Given the description of an element on the screen output the (x, y) to click on. 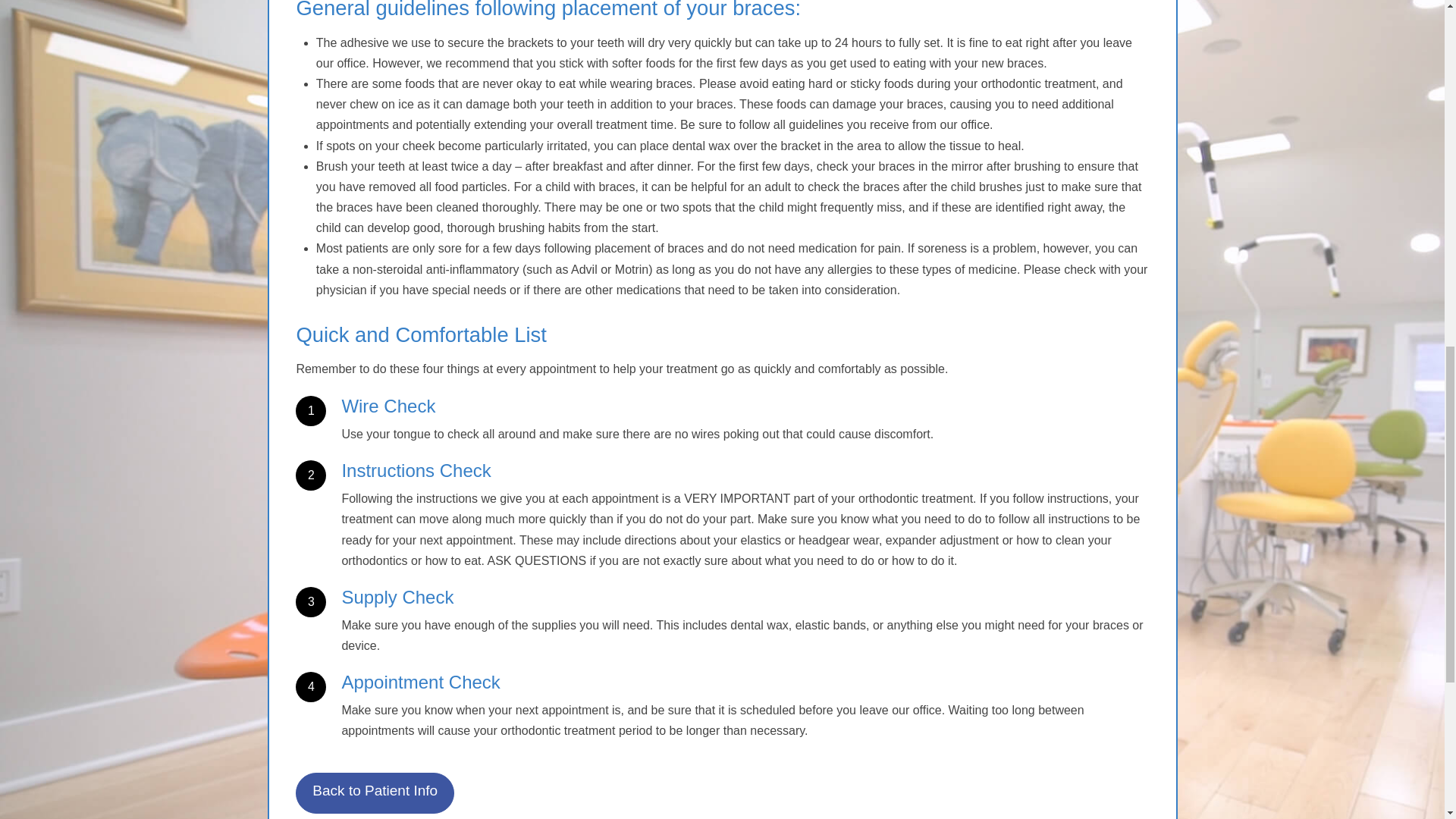
Back to Patient Info (374, 793)
Back to Patient Information (374, 793)
